Given the description of an element on the screen output the (x, y) to click on. 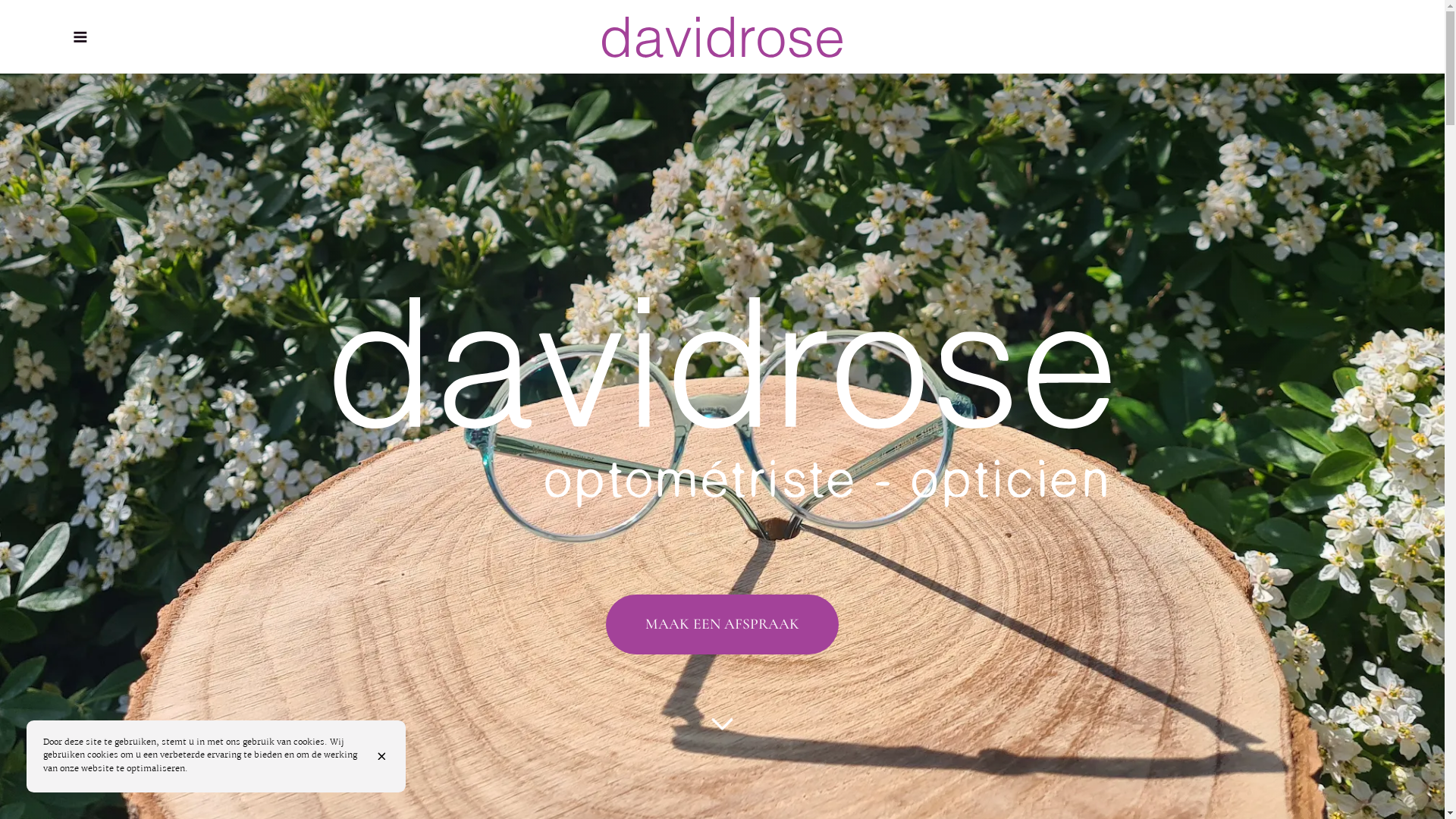
DAVIDROSE Element type: text (721, 36)
Sluit de banner met cookie-informatie Element type: hover (382, 756)
Logo vandavidrose Element type: hover (721, 36)
MAAK EEN AFSPRAAK Element type: text (721, 624)
Logo vandavidrose Element type: hover (722, 401)
